Given the description of an element on the screen output the (x, y) to click on. 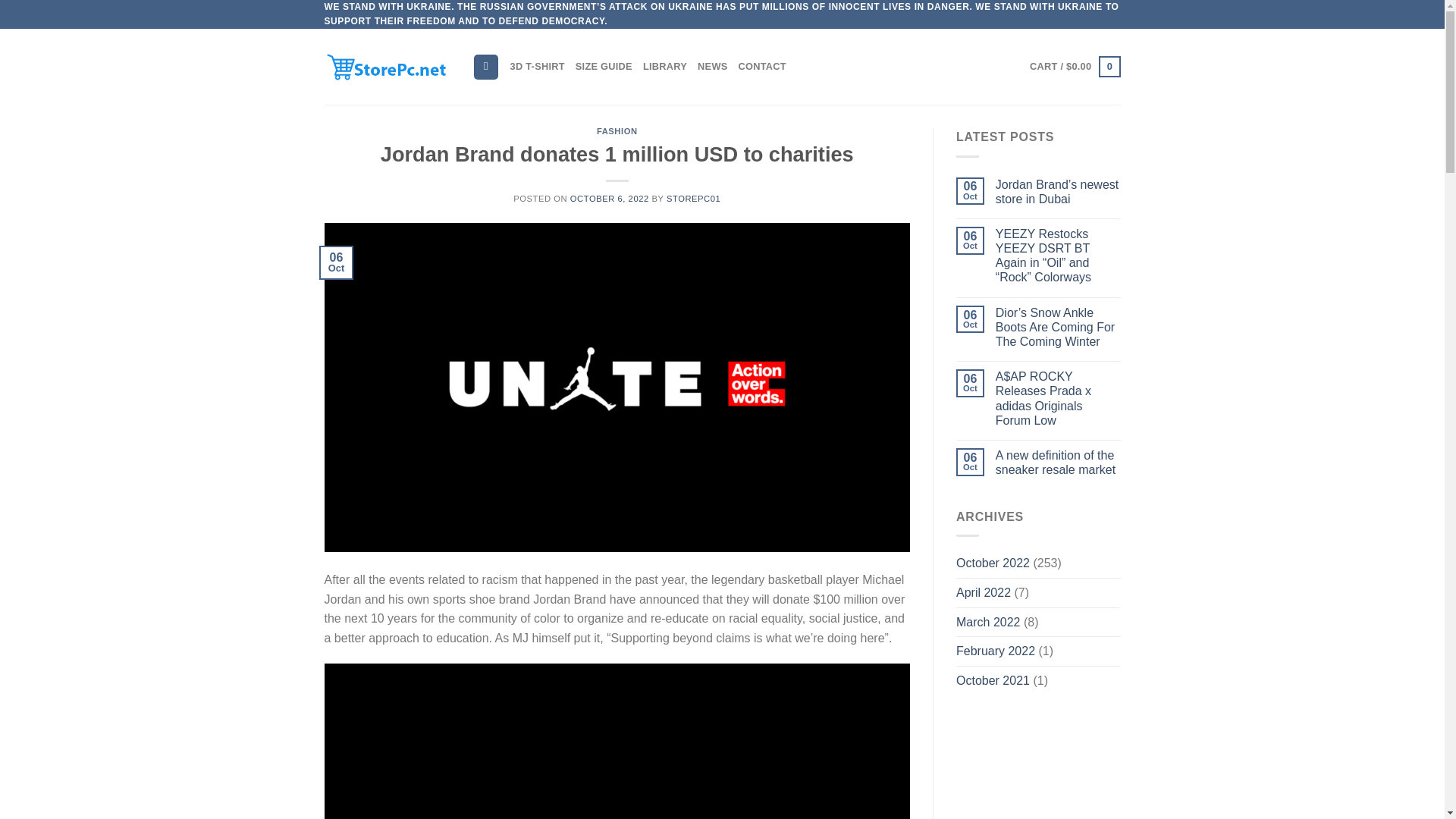
Cart (1074, 66)
NEWS (711, 66)
SIZE GUIDE (603, 66)
OCTOBER 6, 2022 (609, 198)
LIBRARY (665, 66)
STOREPC01 (693, 198)
FASHION (616, 130)
CONTACT (762, 66)
3D T-SHIRT (537, 66)
